Given the description of an element on the screen output the (x, y) to click on. 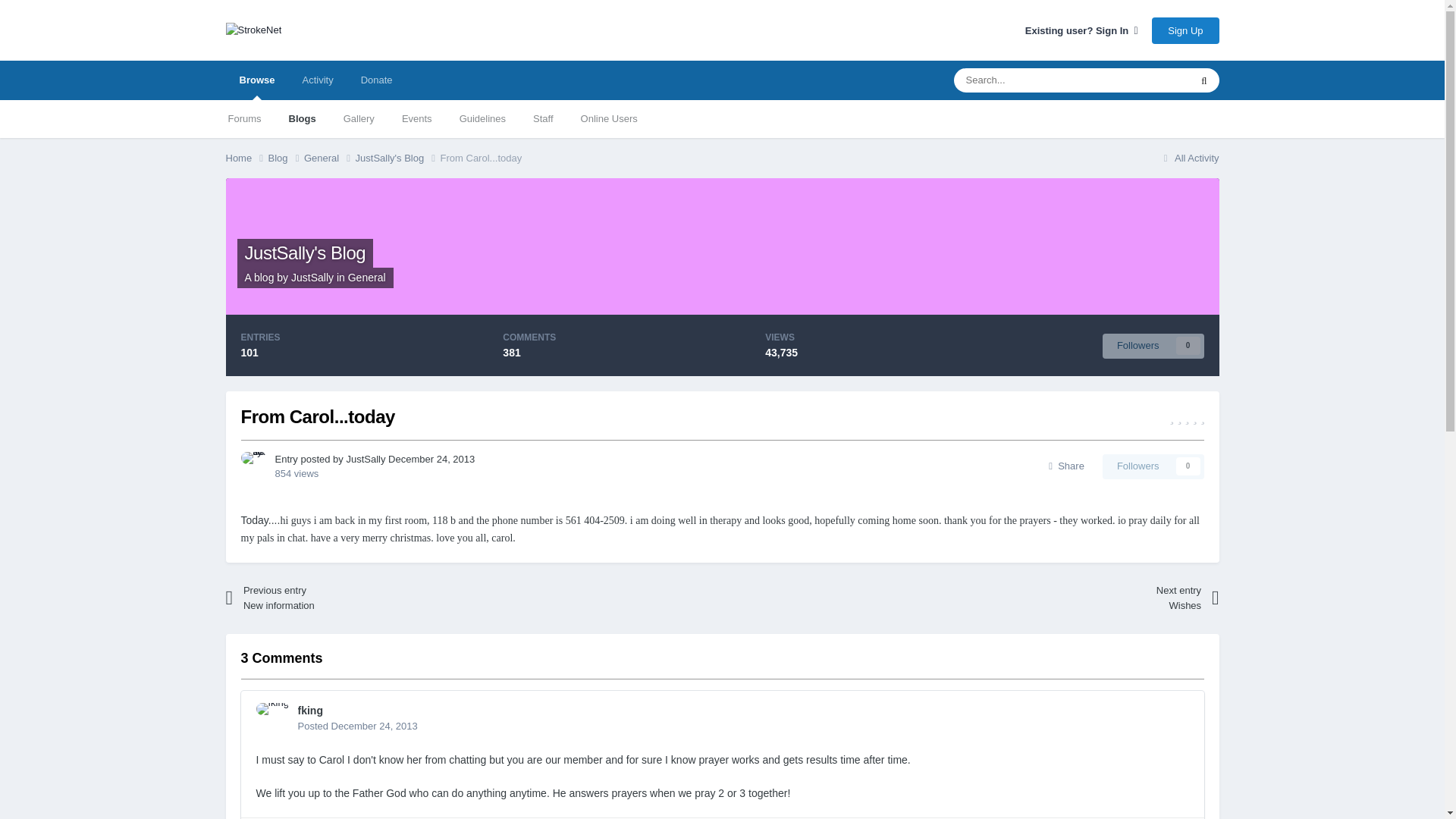
Blogs (302, 118)
JustSally's Blog (398, 158)
Online Users (608, 118)
All Activity (1188, 157)
 Share (1066, 466)
Go to JustSally's profile (365, 459)
Sign in to follow this (1153, 466)
General (366, 277)
Sign Up (1184, 29)
Activity (317, 79)
